Given the description of an element on the screen output the (x, y) to click on. 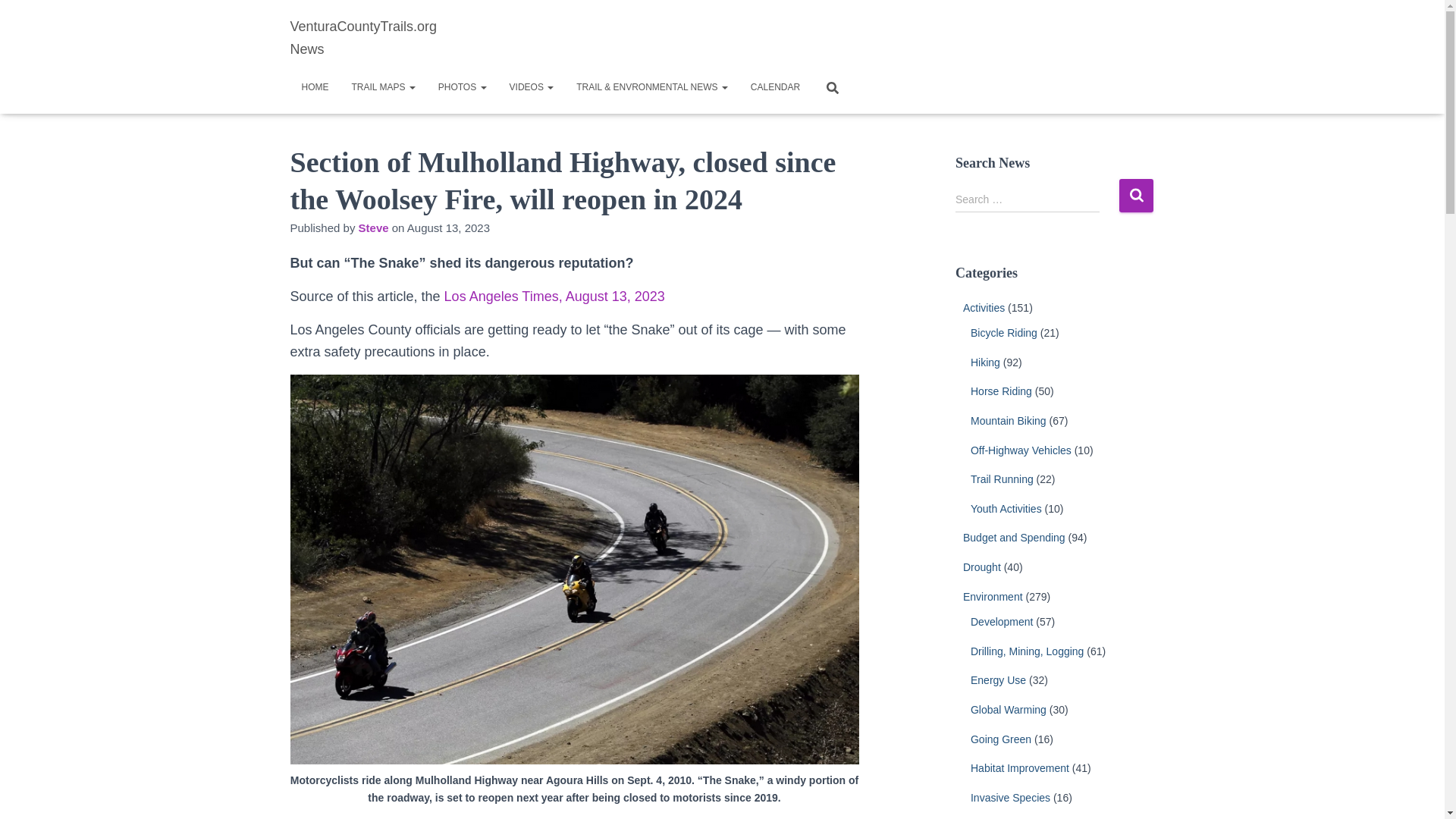
Hiking (985, 362)
Bicycle Riding (1003, 332)
Search (1136, 195)
Videos (531, 86)
CALENDAR (774, 86)
Budget and Spending (1013, 537)
HOME (314, 86)
Horse Riding (1001, 390)
VenturaCountyTrails.org News (379, 37)
Drought (981, 567)
